Given the description of an element on the screen output the (x, y) to click on. 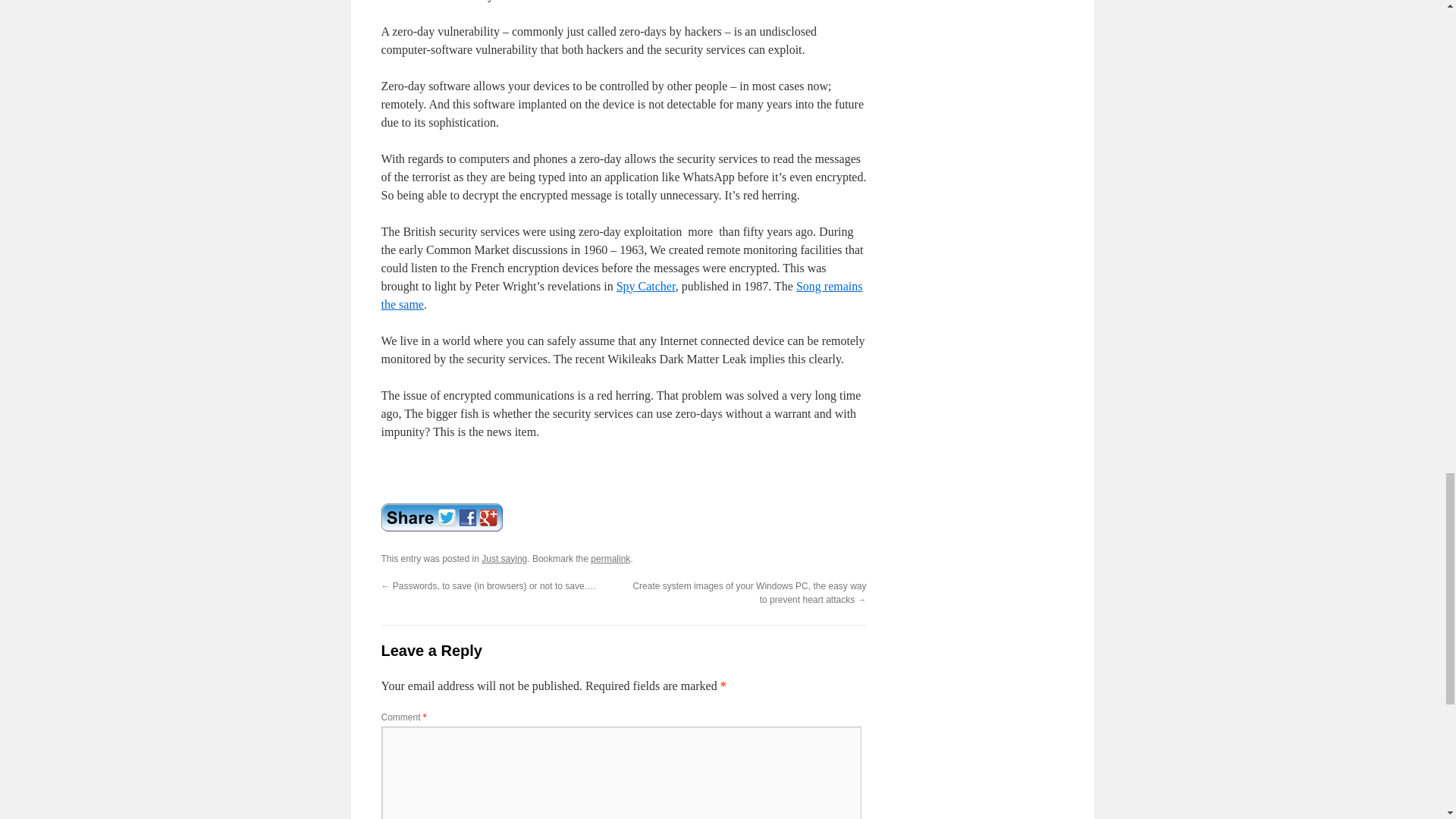
Spy Catcher (645, 286)
Just saying (504, 558)
permalink (610, 558)
Song remains the same (620, 295)
